Given the description of an element on the screen output the (x, y) to click on. 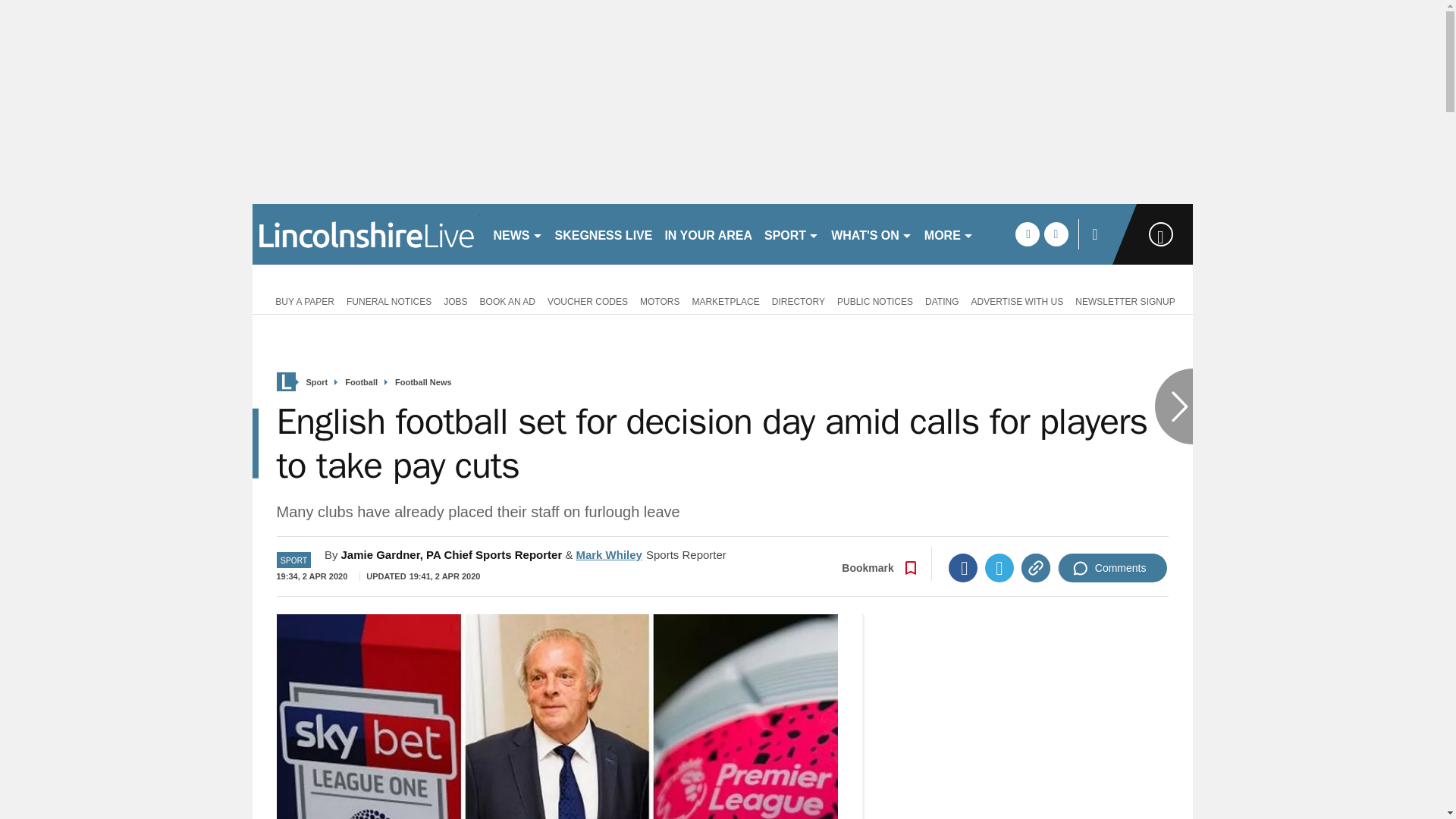
lincolnshirelive (365, 233)
SKEGNESS LIVE (603, 233)
NEWS (517, 233)
IN YOUR AREA (708, 233)
Facebook (962, 567)
facebook (1026, 233)
MORE (948, 233)
BUY A PAPER (301, 300)
Comments (1112, 567)
twitter (1055, 233)
